Given the description of an element on the screen output the (x, y) to click on. 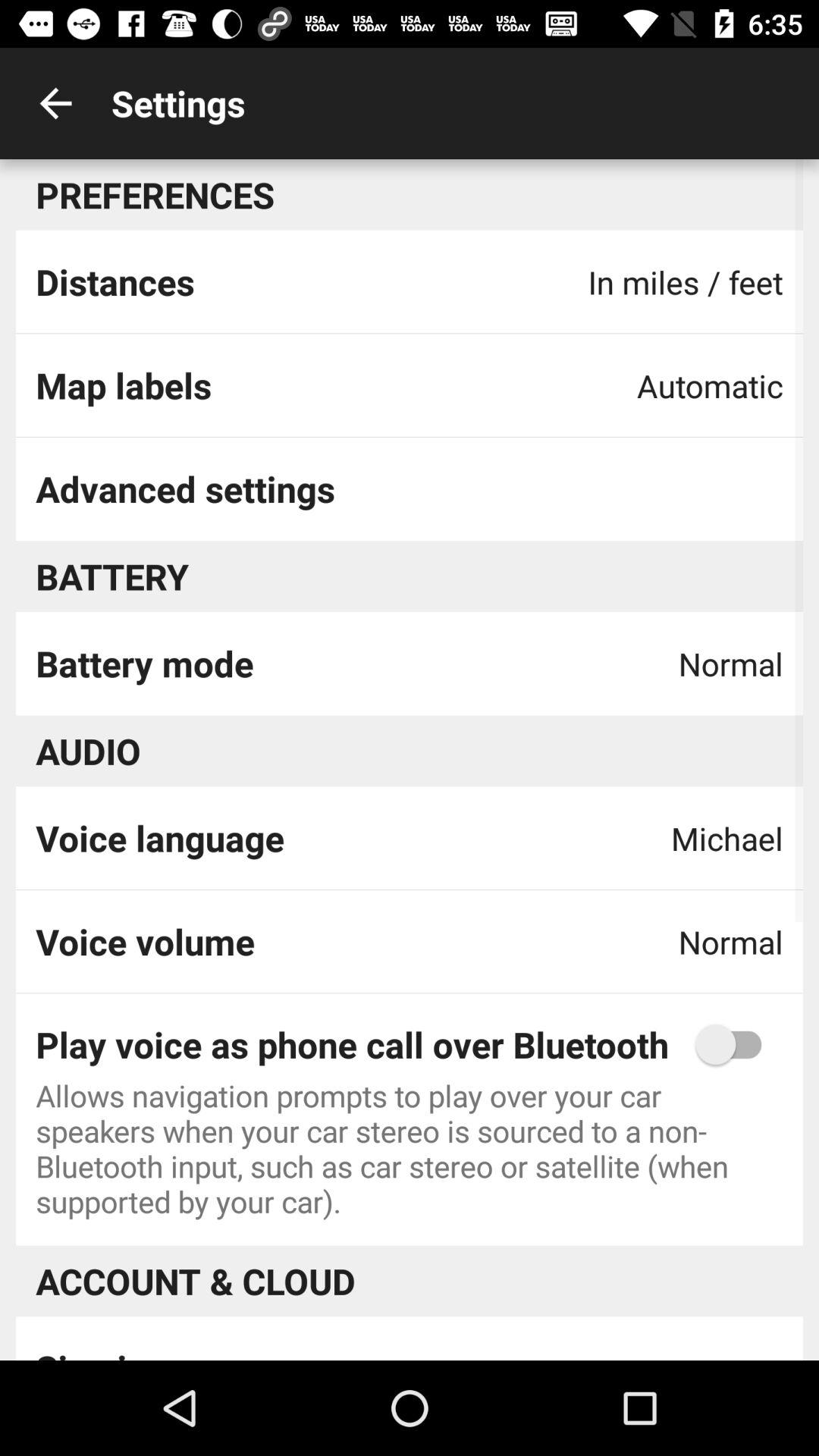
turn off the icon to the right of map labels icon (710, 385)
